Given the description of an element on the screen output the (x, y) to click on. 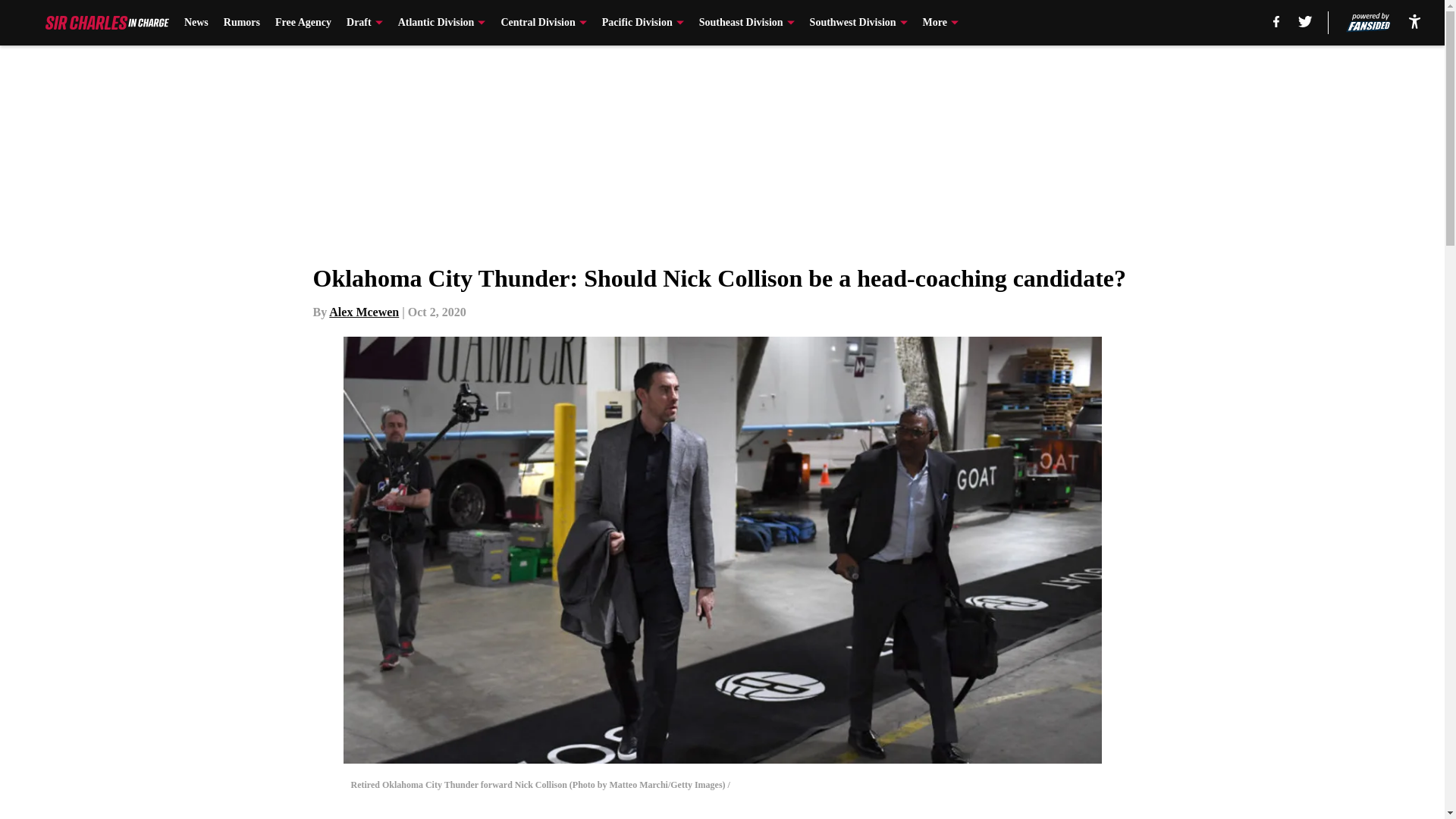
Pacific Division (643, 22)
Atlantic Division (441, 22)
Central Division (543, 22)
Draft (364, 22)
News (196, 22)
Southeast Division (746, 22)
Rumors (242, 22)
Free Agency (303, 22)
